Given the description of an element on the screen output the (x, y) to click on. 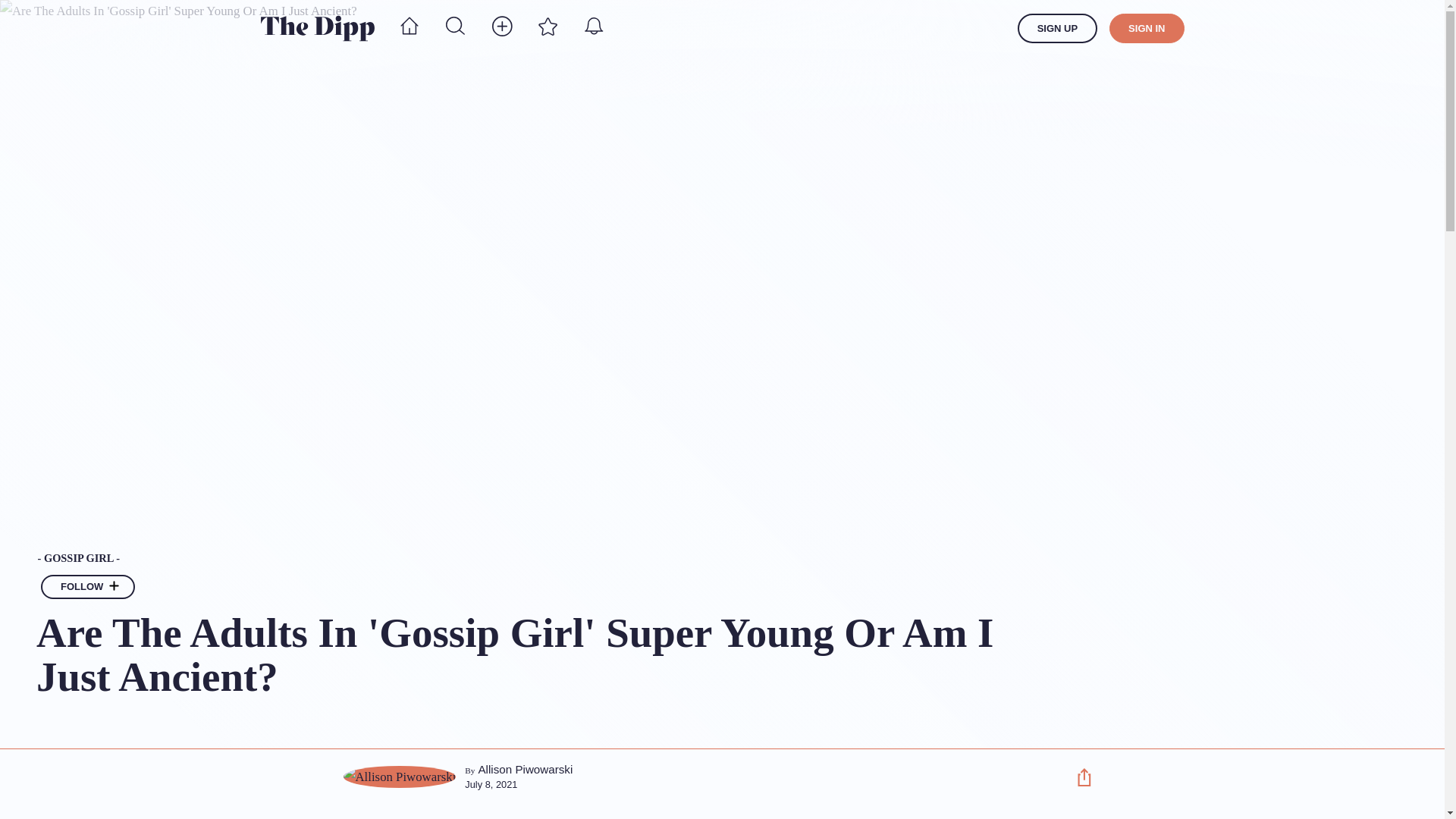
SIGN IN (1146, 28)
SIGN UP (1057, 28)
- GOSSIP GIRL - (542, 559)
FOLLOW (87, 586)
Allison Piwowarski (524, 768)
Dipp (317, 28)
